Given the description of an element on the screen output the (x, y) to click on. 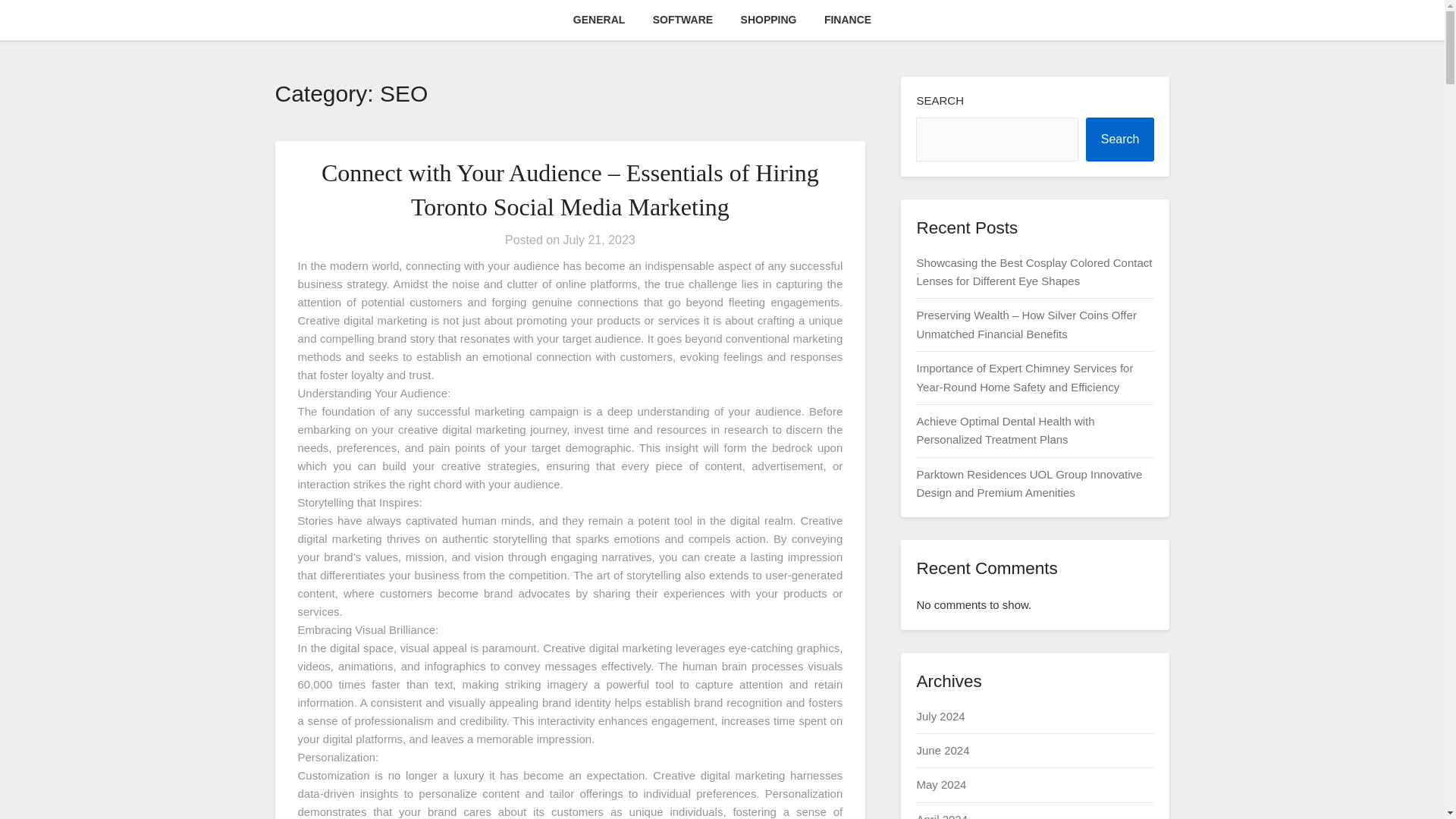
FINANCE (847, 20)
GENERAL (598, 20)
SHOPPING (769, 20)
July 21, 2023 (598, 239)
SOFTWARE (682, 20)
